Given the description of an element on the screen output the (x, y) to click on. 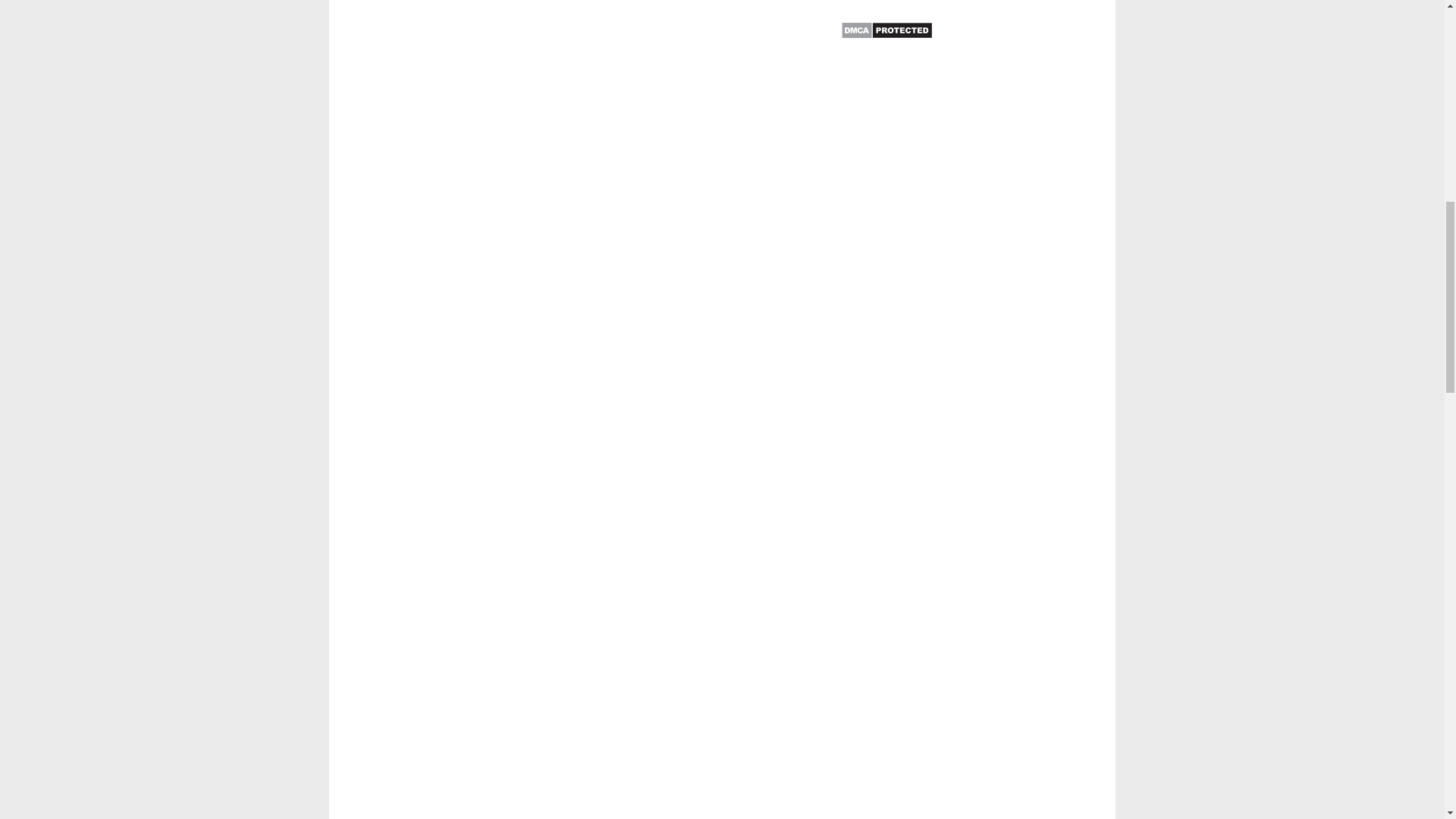
High Court Of Gujarat Court Manager Preliminary Exam Result (590, 87)
